Given the description of an element on the screen output the (x, y) to click on. 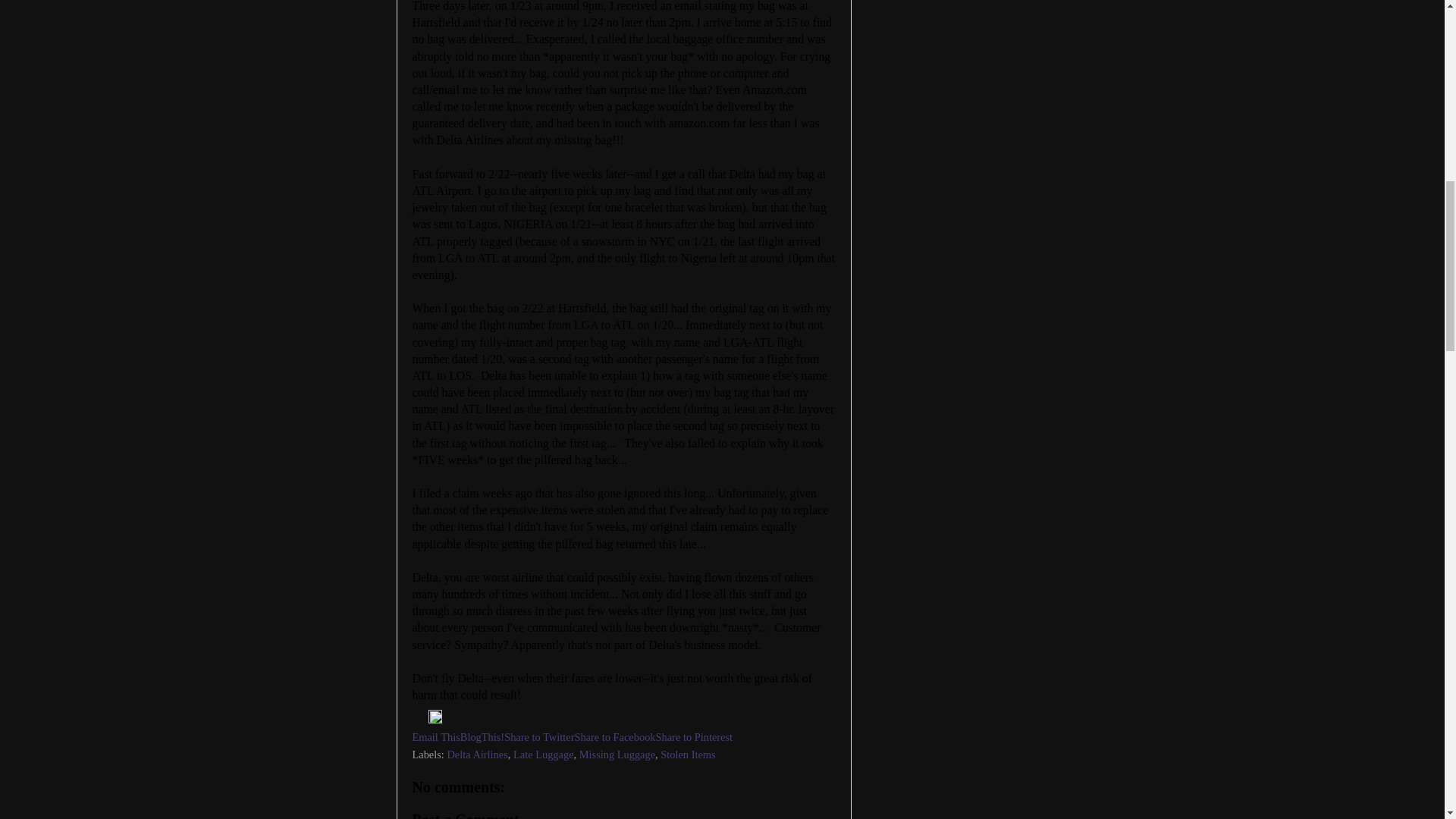
Stolen Items (687, 754)
Email Post (420, 719)
Share to Pinterest (694, 736)
BlogThis! (481, 736)
BlogThis! (481, 736)
Email This (436, 736)
Share to Facebook (614, 736)
Share to Twitter (538, 736)
Email This (436, 736)
Delta Airlines (476, 754)
Late Luggage (543, 754)
Share to Twitter (538, 736)
Share to Facebook (614, 736)
Missing Luggage (617, 754)
Edit Post (435, 719)
